Given the description of an element on the screen output the (x, y) to click on. 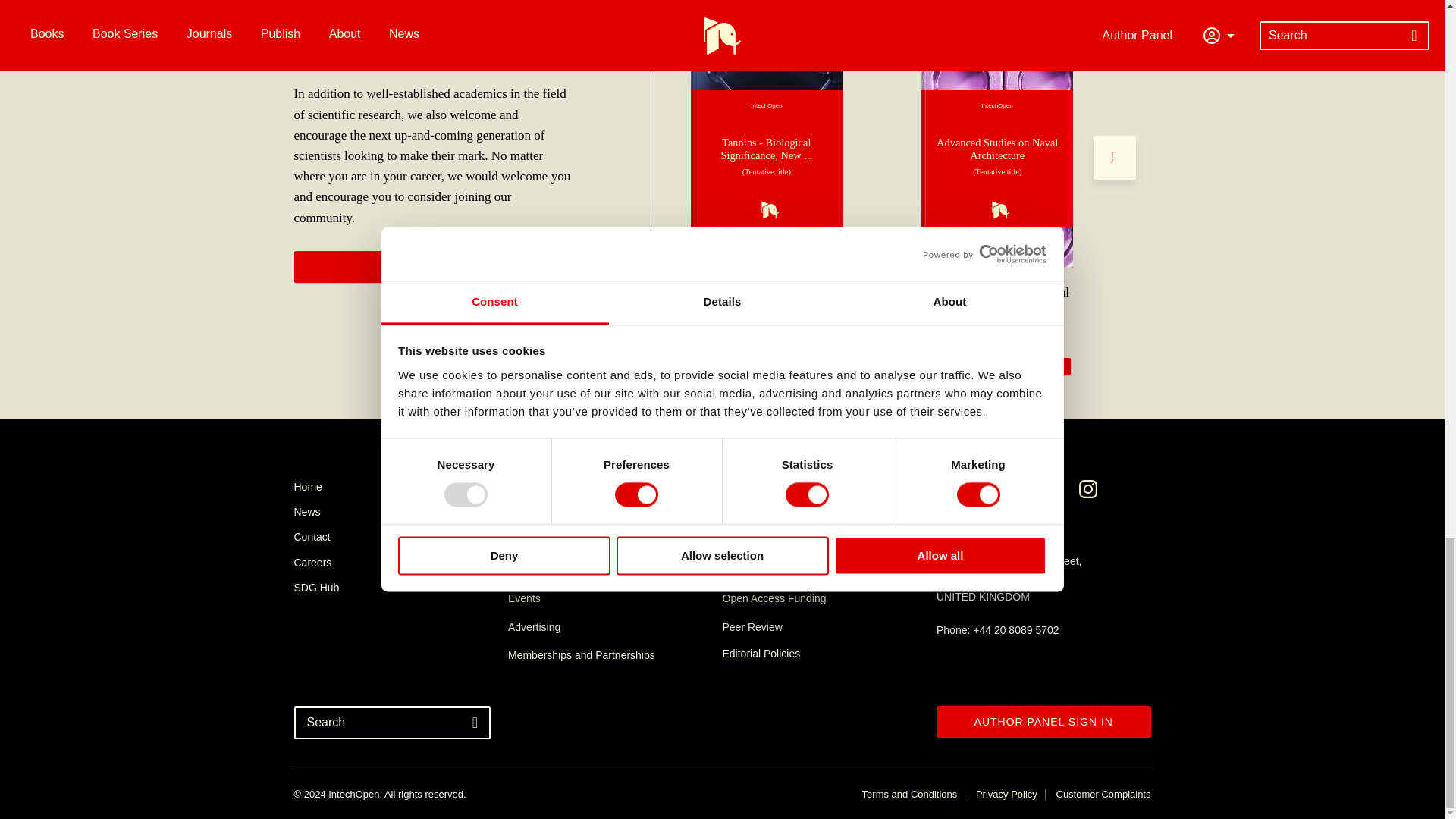
IntechOpen (997, 158)
IntechOpen (766, 158)
